Given the description of an element on the screen output the (x, y) to click on. 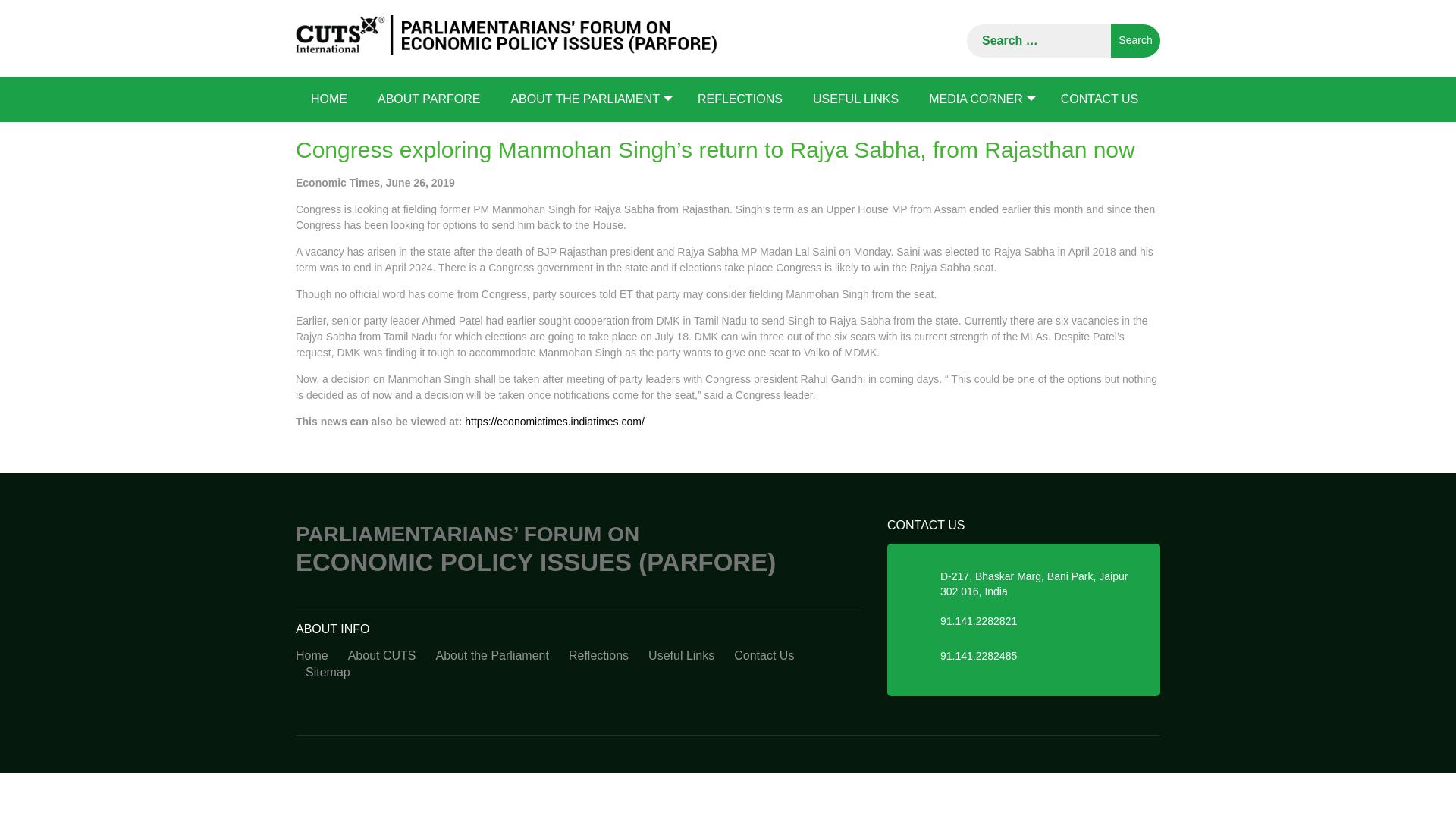
logo (505, 34)
ABOUT PARFORE (428, 99)
USEFUL LINKS (855, 99)
CONTACT US (1099, 99)
Reflections (599, 656)
Sitemap (327, 672)
Contact Us (763, 656)
About the Parliament (492, 656)
ABOUT THE PARLIAMENT (588, 99)
Search (1135, 40)
Useful Links (681, 656)
Search (1135, 40)
MEDIA CORNER (979, 99)
Home (316, 656)
About CUTS (381, 656)
